Given the description of an element on the screen output the (x, y) to click on. 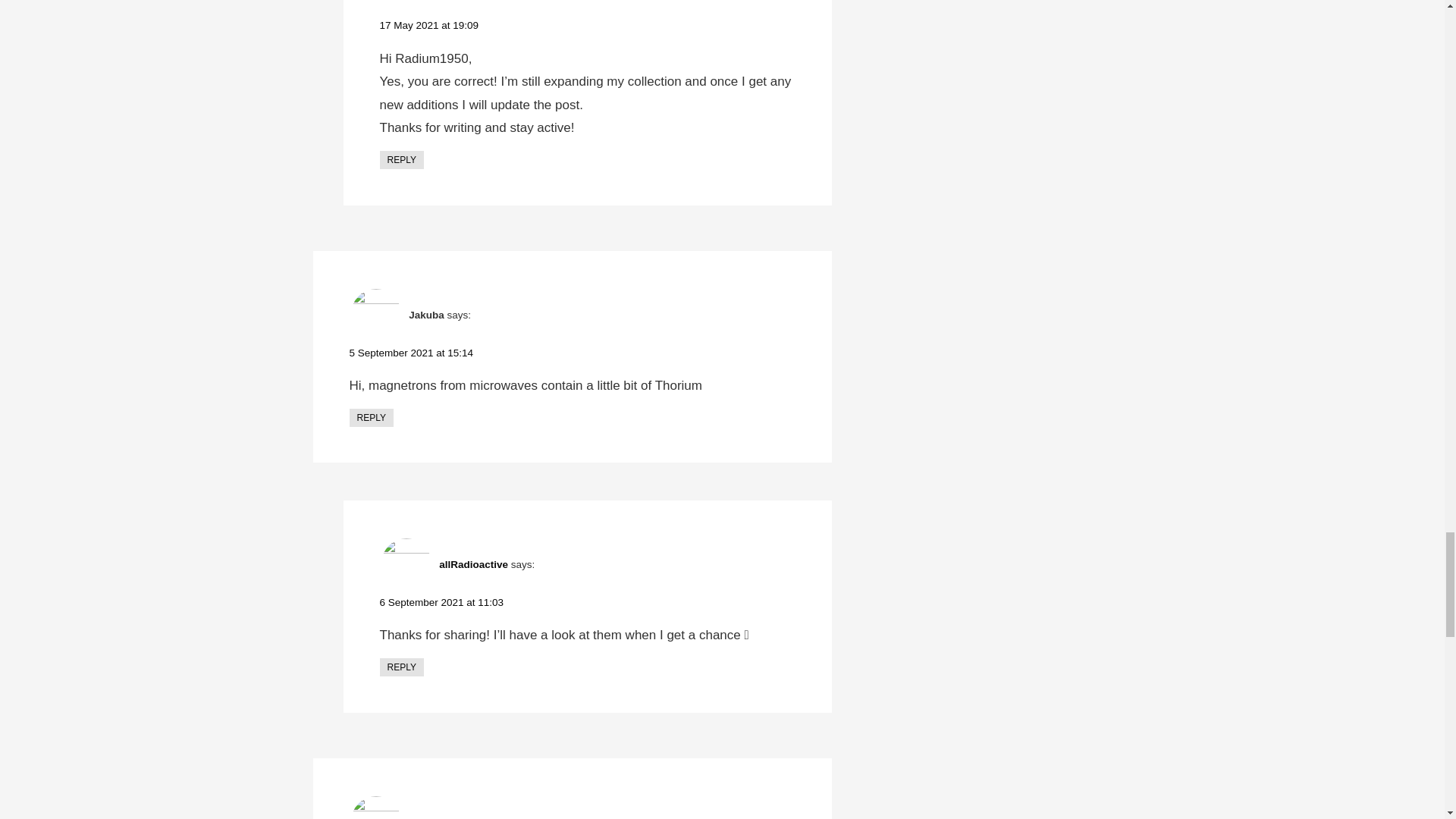
REPLY (400, 159)
6 September 2021 at 11:03 (440, 602)
REPLY (371, 417)
REPLY (400, 667)
allRadioactive (473, 564)
5 September 2021 at 15:14 (411, 352)
17 May 2021 at 19:09 (428, 25)
